Given the description of an element on the screen output the (x, y) to click on. 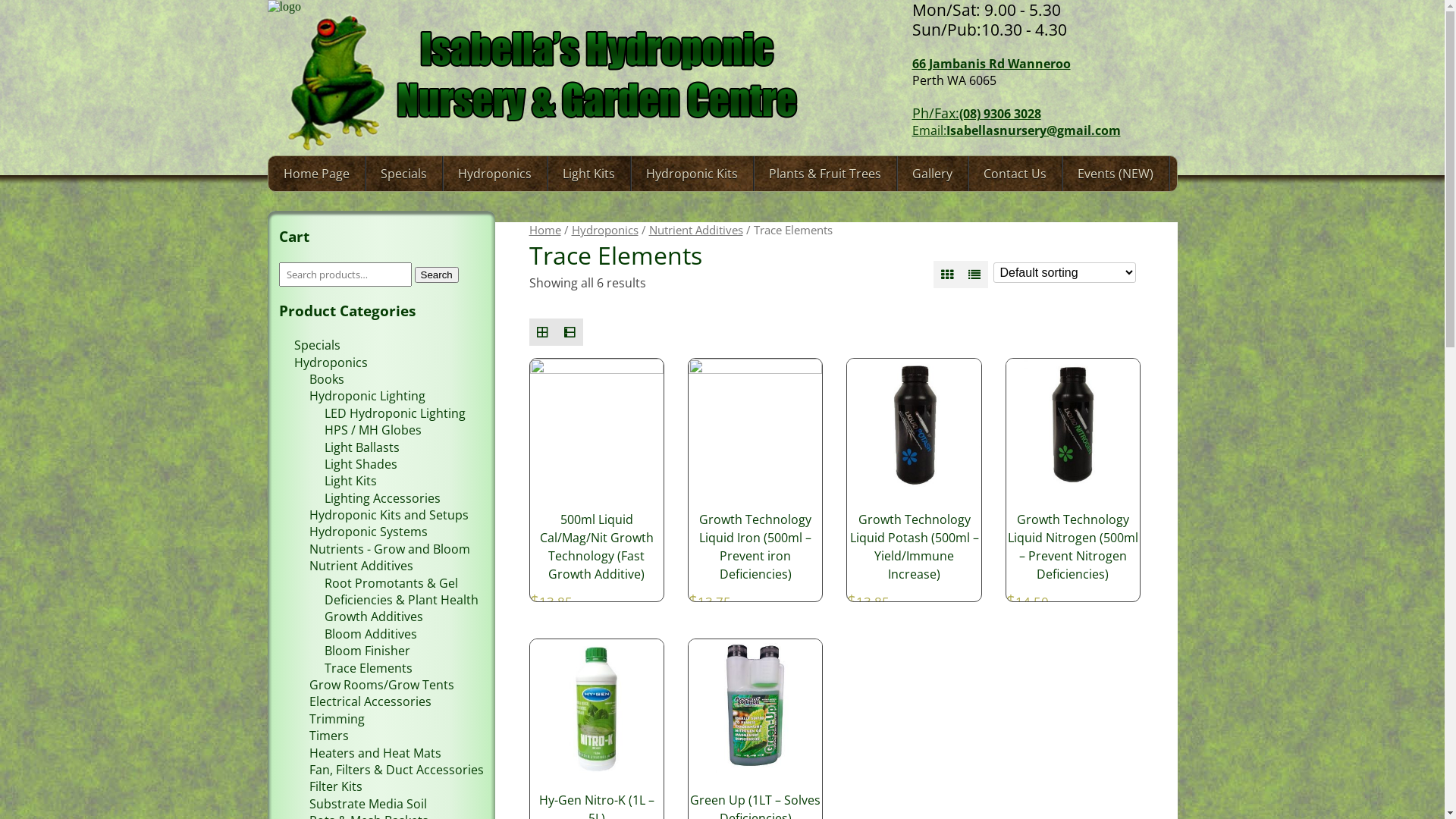
Bloom Additives Element type: text (370, 633)
Trimming Element type: text (336, 718)
Grow Rooms/Grow Tents Element type: text (381, 684)
Root Promotants & Gel Element type: text (391, 582)
Timers Element type: text (328, 735)
Hydroponics Element type: text (604, 229)
Growth Additives Element type: text (373, 616)
List view Element type: hover (569, 331)
Electrical Accessories Element type: text (370, 701)
Fan, Filters & Duct Accessories Element type: text (396, 769)
Home Element type: text (545, 229)
Search Element type: text (436, 274)
Light Ballasts Element type: text (361, 446)
Ph/Fax:(08) 9306 3028 Element type: text (975, 113)
Bloom Finisher Element type: text (367, 650)
Nutrient Additives Element type: text (361, 565)
Light Kits Element type: text (588, 173)
Heaters and Heat Mats Element type: text (375, 752)
Email:Isabellasnursery@gmail.com Element type: text (1015, 130)
Hydroponic Lighting Element type: text (367, 395)
Lighting Accessories Element type: text (382, 497)
LED Hydroponic Lighting Element type: text (394, 412)
Gallery Element type: text (931, 173)
Events (NEW) Element type: text (1114, 173)
Grid view Element type: hover (542, 331)
Home Page Element type: text (316, 173)
66 Jambanis Rd Wanneroo Element type: text (990, 63)
Deficiencies & Plant Health Element type: text (401, 599)
Nutrients - Grow and Bloom Element type: text (389, 548)
Hydroponic Kits Element type: text (691, 173)
HPS / MH Globes Element type: text (372, 429)
Books Element type: text (326, 378)
Grid view Element type: hover (946, 274)
Substrate Media Soil Element type: text (367, 803)
Hydroponic Kits and Setups Element type: text (388, 514)
Nutrient Additives Element type: text (696, 229)
Trace Elements Element type: text (368, 667)
Light Shades Element type: text (360, 463)
Light Kits Element type: text (350, 480)
Hydroponics Element type: text (330, 362)
Hydroponic Systems Element type: text (368, 531)
Specials Element type: text (403, 173)
Filter Kits Element type: text (335, 786)
Plants & Fruit Trees Element type: text (824, 173)
List view Element type: hover (974, 274)
Specials Element type: text (317, 344)
Contact Us Element type: text (1013, 173)
Hydroponics Element type: text (494, 173)
